Given the description of an element on the screen output the (x, y) to click on. 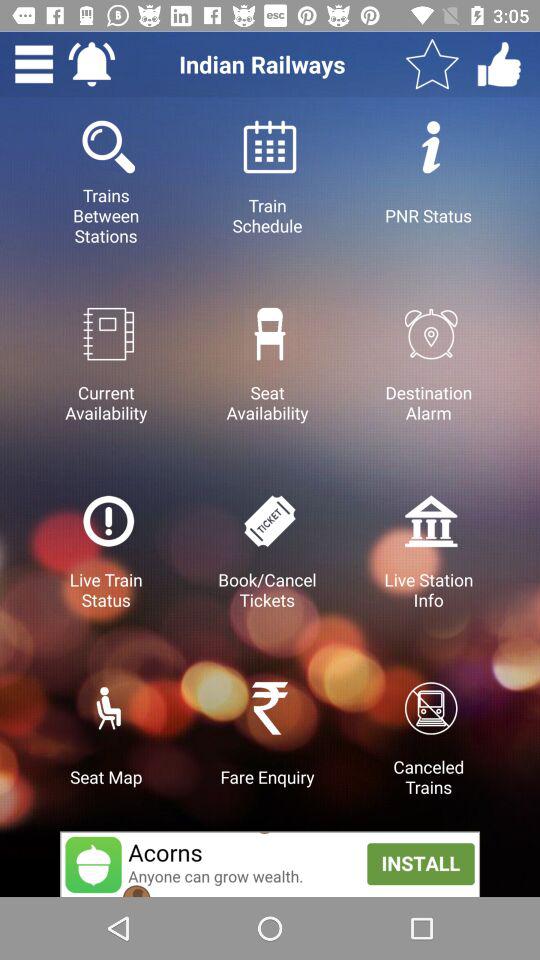
menu (33, 64)
